Given the description of an element on the screen output the (x, y) to click on. 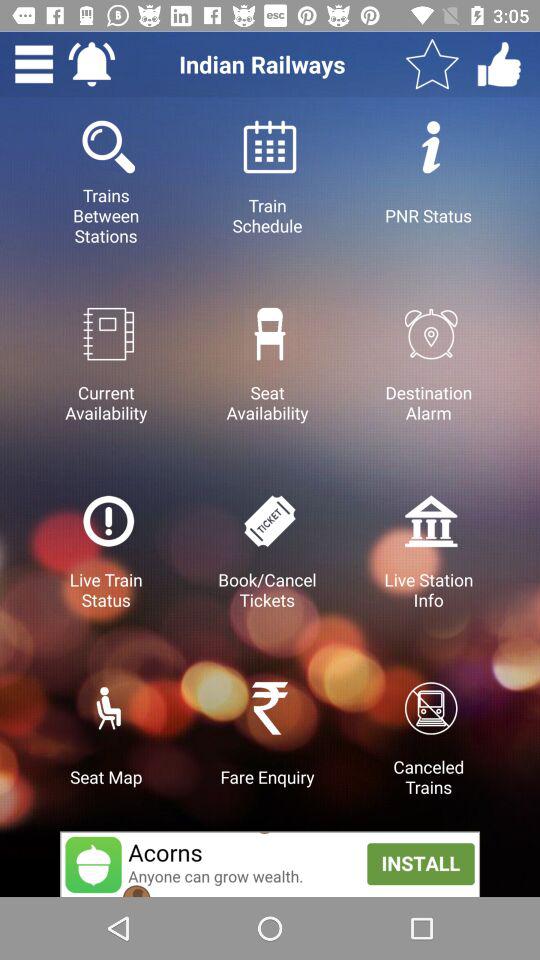
menu (33, 64)
